Given the description of an element on the screen output the (x, y) to click on. 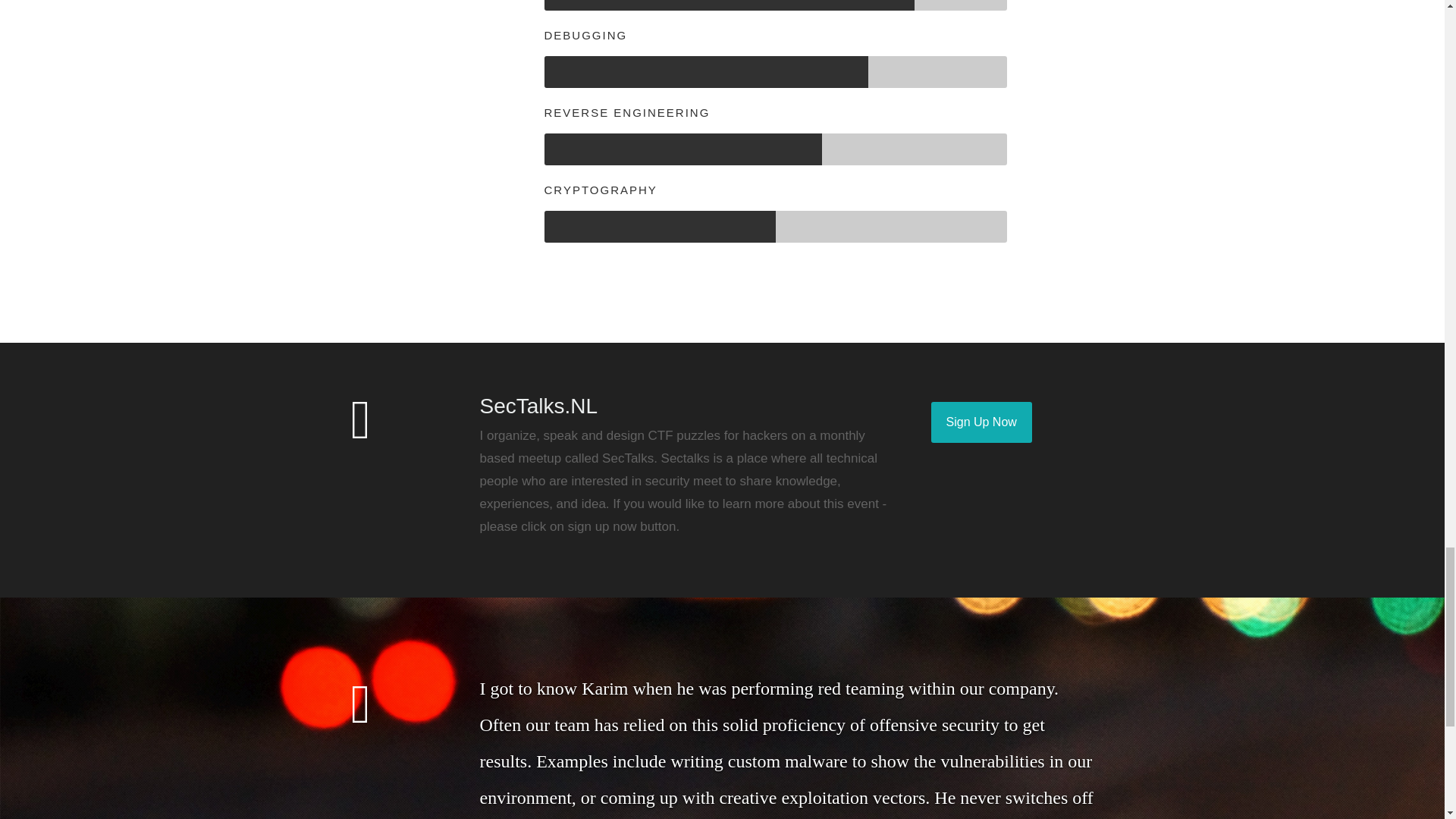
Sign Up Now (981, 422)
